Given the description of an element on the screen output the (x, y) to click on. 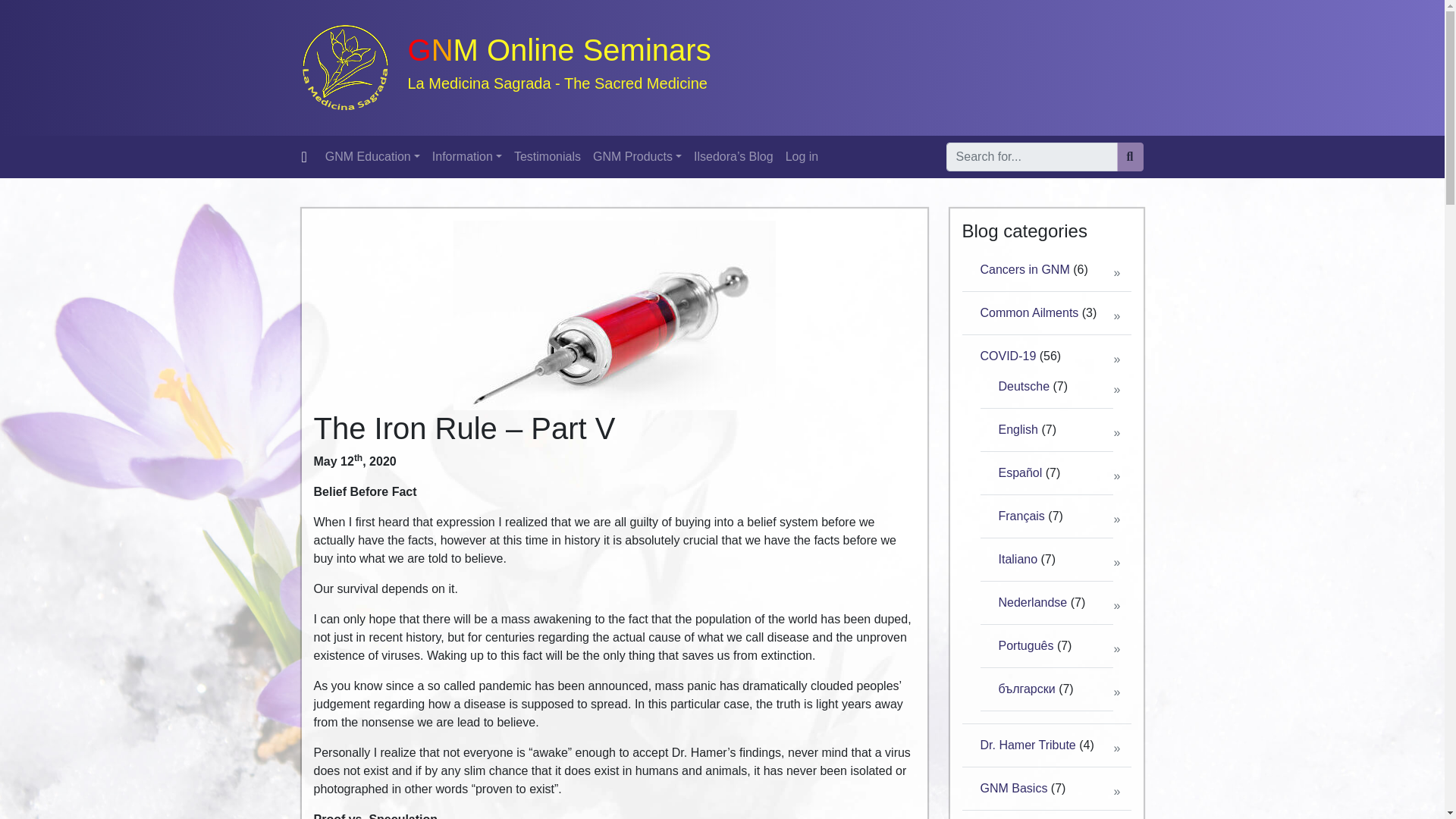
Nederlandse (1032, 602)
Deutsche (1023, 386)
GNM Products (636, 156)
Italiano (1016, 558)
Testimonials (547, 156)
GNM Education (372, 156)
Log in (801, 156)
Dr. Hamer Tribute (1027, 744)
COVID-19 (1007, 355)
Information (467, 156)
GNM Basics (1012, 788)
Testimonials (547, 156)
Cancers in GNM (1023, 269)
English (1016, 429)
GNM Products (636, 156)
